Given the description of an element on the screen output the (x, y) to click on. 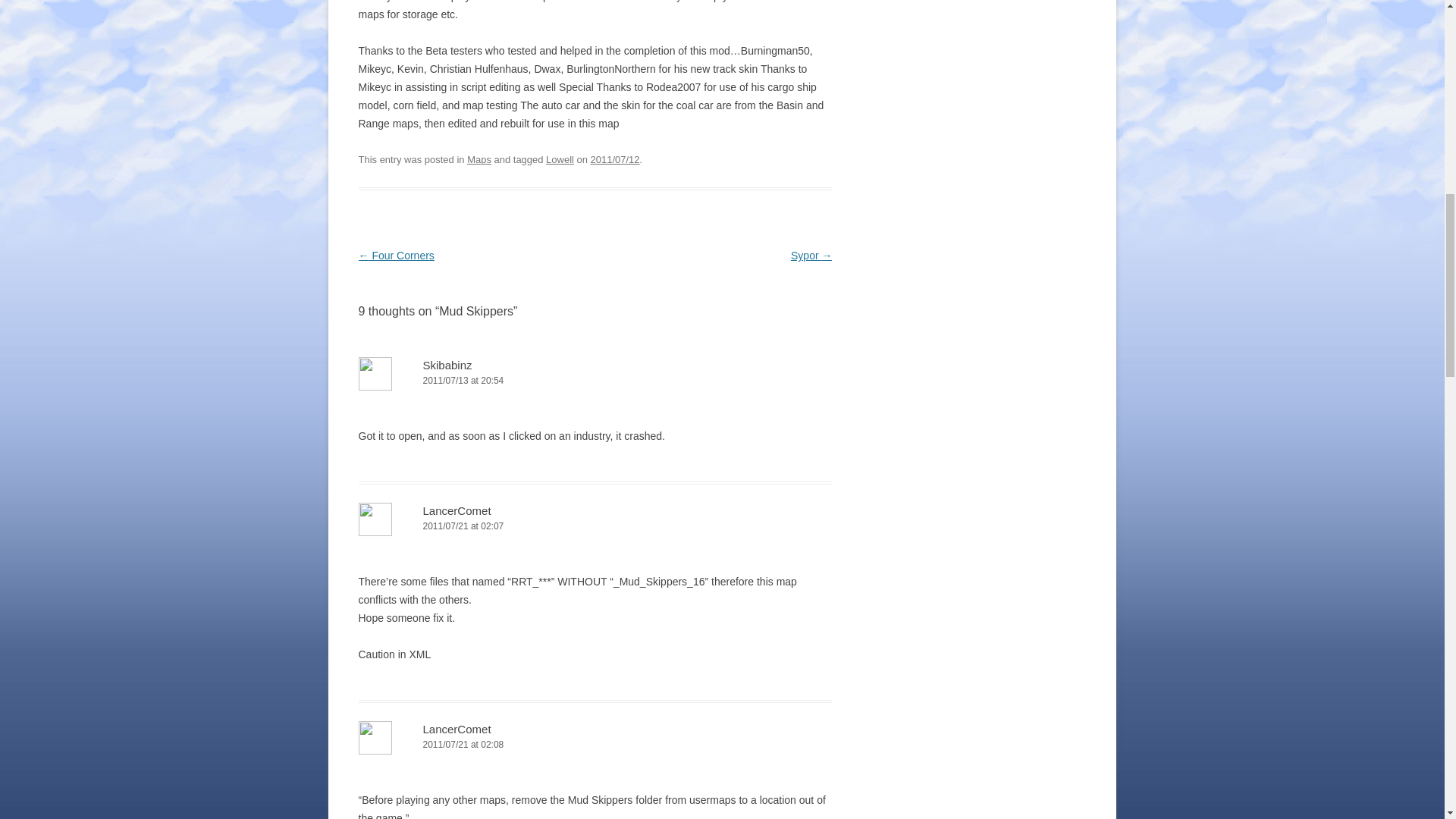
Maps (479, 159)
Lowell (559, 159)
12:20 (615, 159)
